Given the description of an element on the screen output the (x, y) to click on. 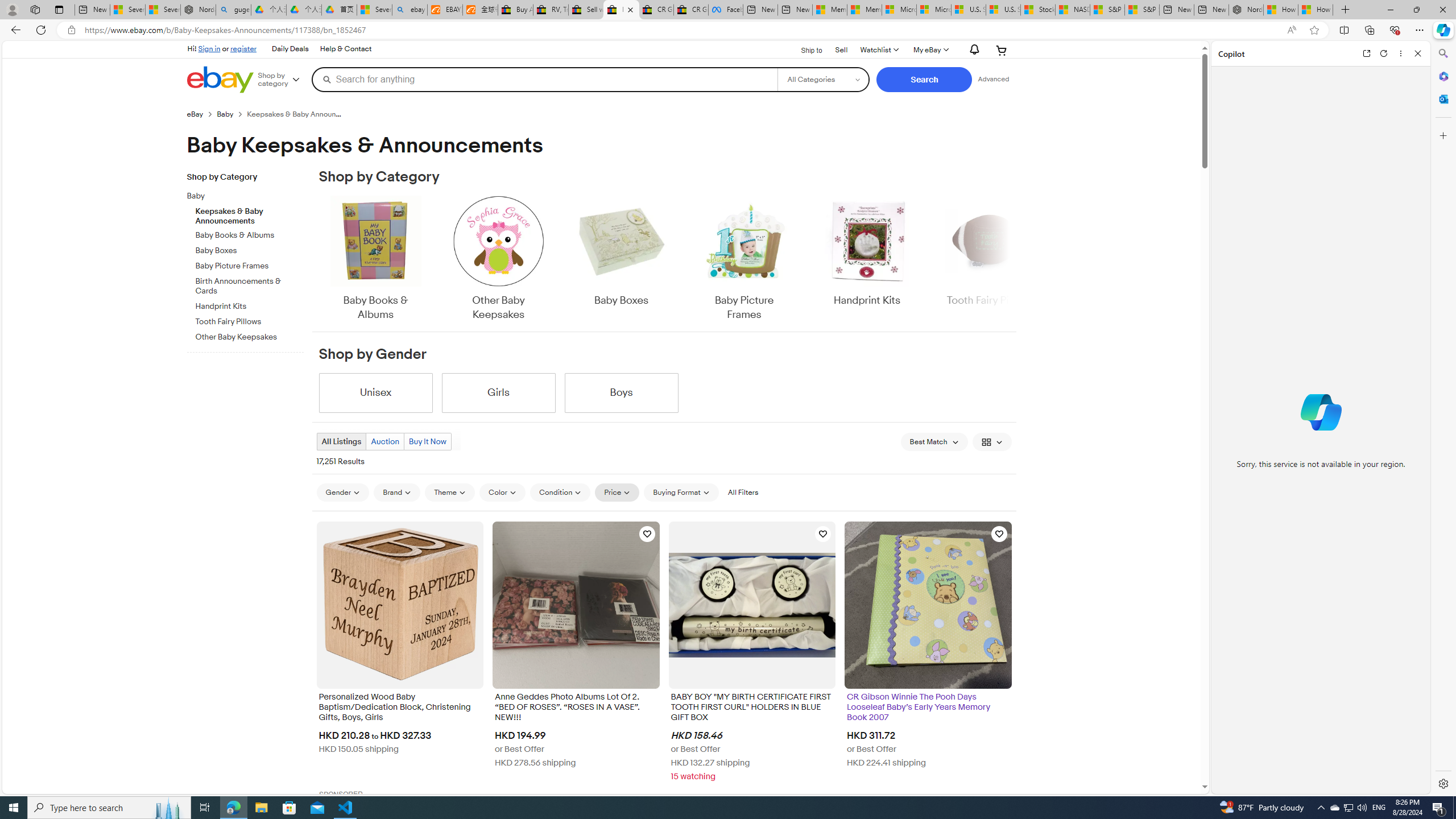
Help & Contact (345, 49)
Sort: Best Match (933, 441)
Birth Announcements & Cards (249, 283)
Baby Keepsakes & Announcements for sale | eBay (620, 9)
All Filters (742, 492)
S&P 500, Nasdaq end lower, weighed by Nvidia dip | Watch (1141, 9)
Boys (621, 392)
